Given the description of an element on the screen output the (x, y) to click on. 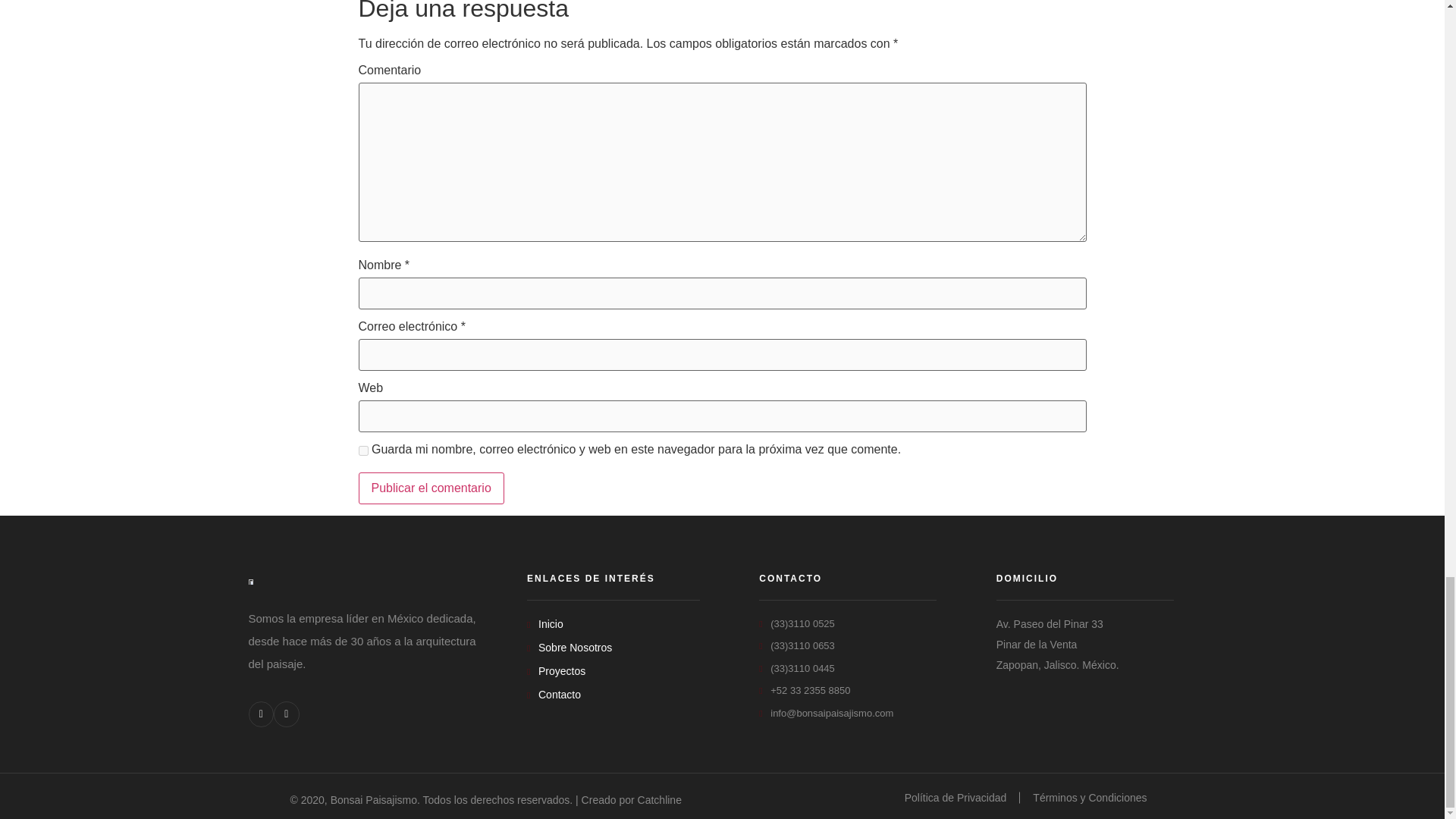
Proyectos (613, 671)
Inicio (613, 624)
Contacto (613, 694)
yes (363, 450)
Catchline (659, 799)
Publicar el comentario (430, 488)
Sobre Nosotros (613, 647)
Publicar el comentario (430, 488)
